Given the description of an element on the screen output the (x, y) to click on. 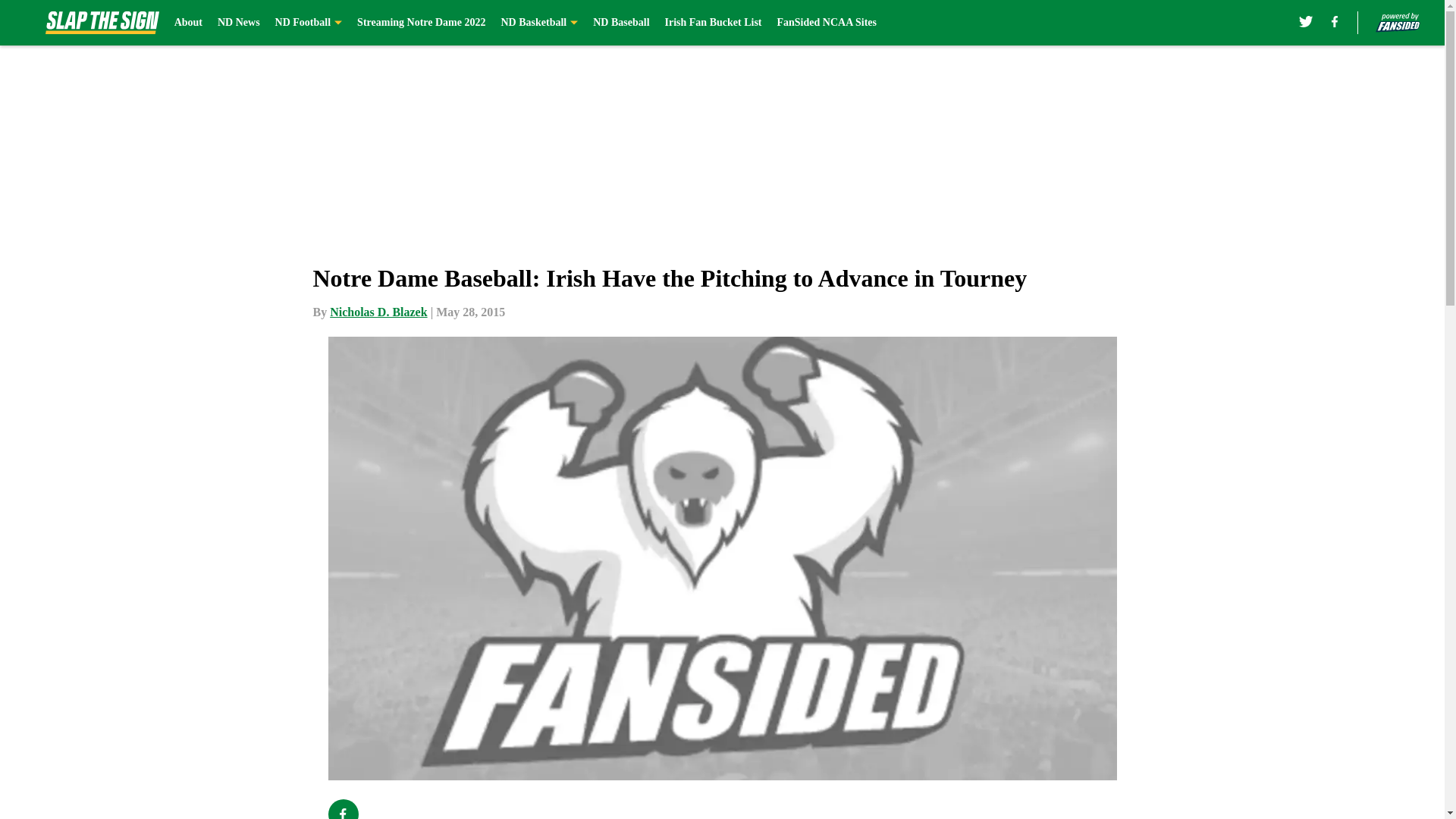
ND News (238, 22)
About (188, 22)
ND Baseball (620, 22)
Irish Fan Bucket List (713, 22)
Nicholas D. Blazek (378, 311)
Streaming Notre Dame 2022 (420, 22)
FanSided NCAA Sites (826, 22)
